Given the description of an element on the screen output the (x, y) to click on. 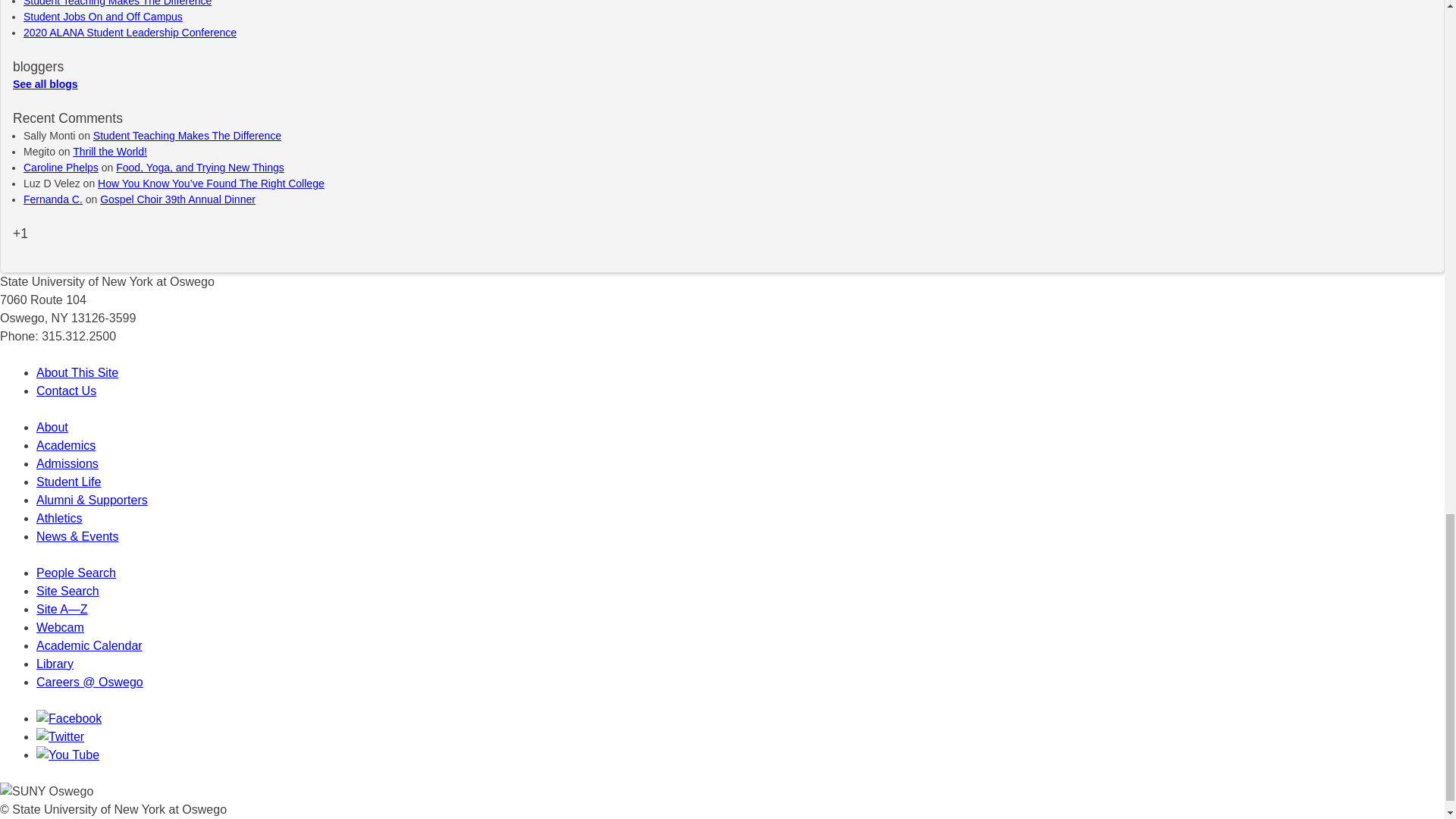
See all blogs (45, 83)
Student Teaching Makes The Difference (117, 3)
Student Jobs On and Off Campus (103, 16)
2020 ALANA Student Leadership Conference (129, 32)
